Given the description of an element on the screen output the (x, y) to click on. 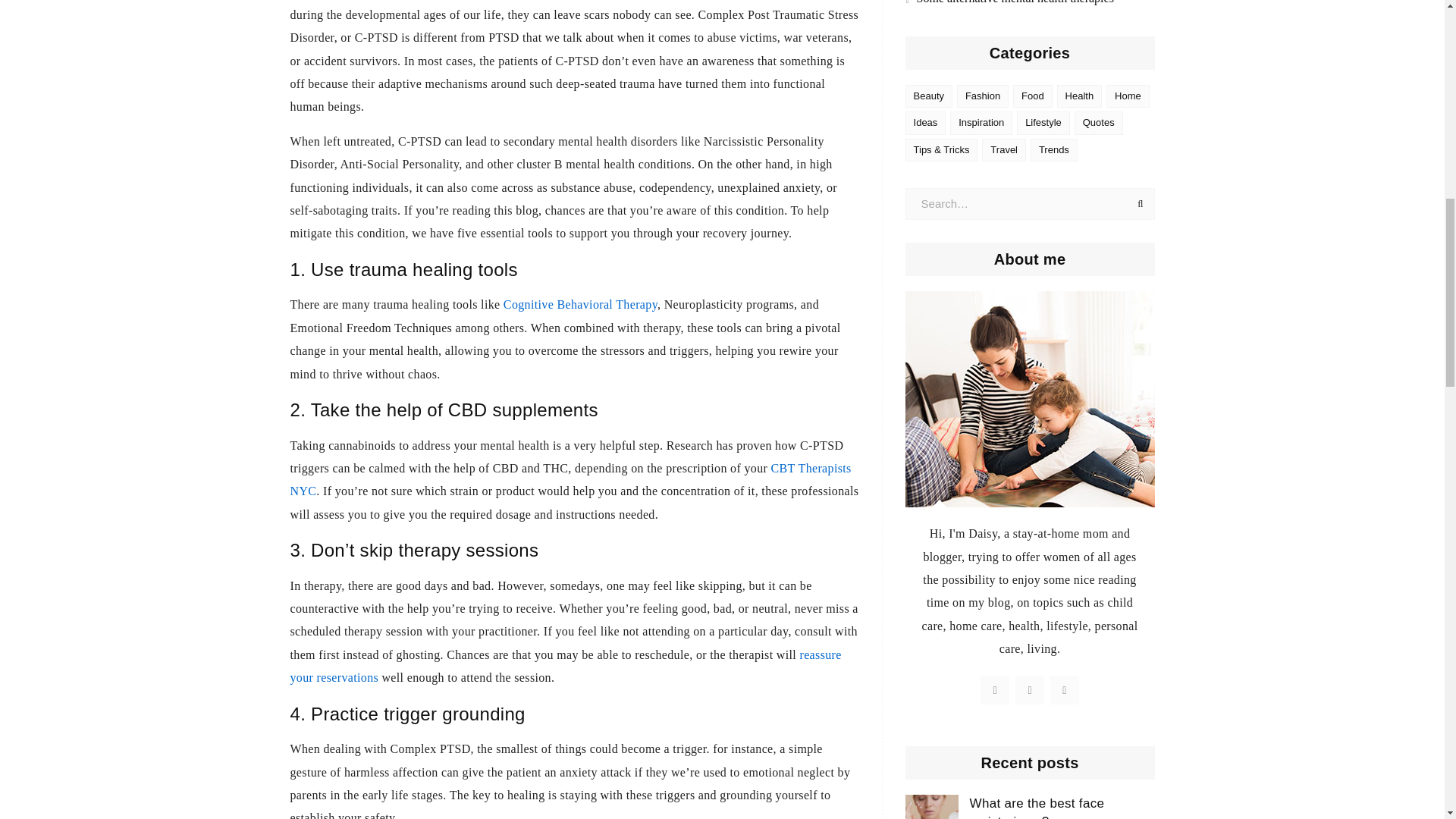
reassure your reservations (565, 665)
Cognitive Behavioral Therapy (580, 304)
Search for: (1029, 204)
CBT Therapists NYC (569, 479)
